Given the description of an element on the screen output the (x, y) to click on. 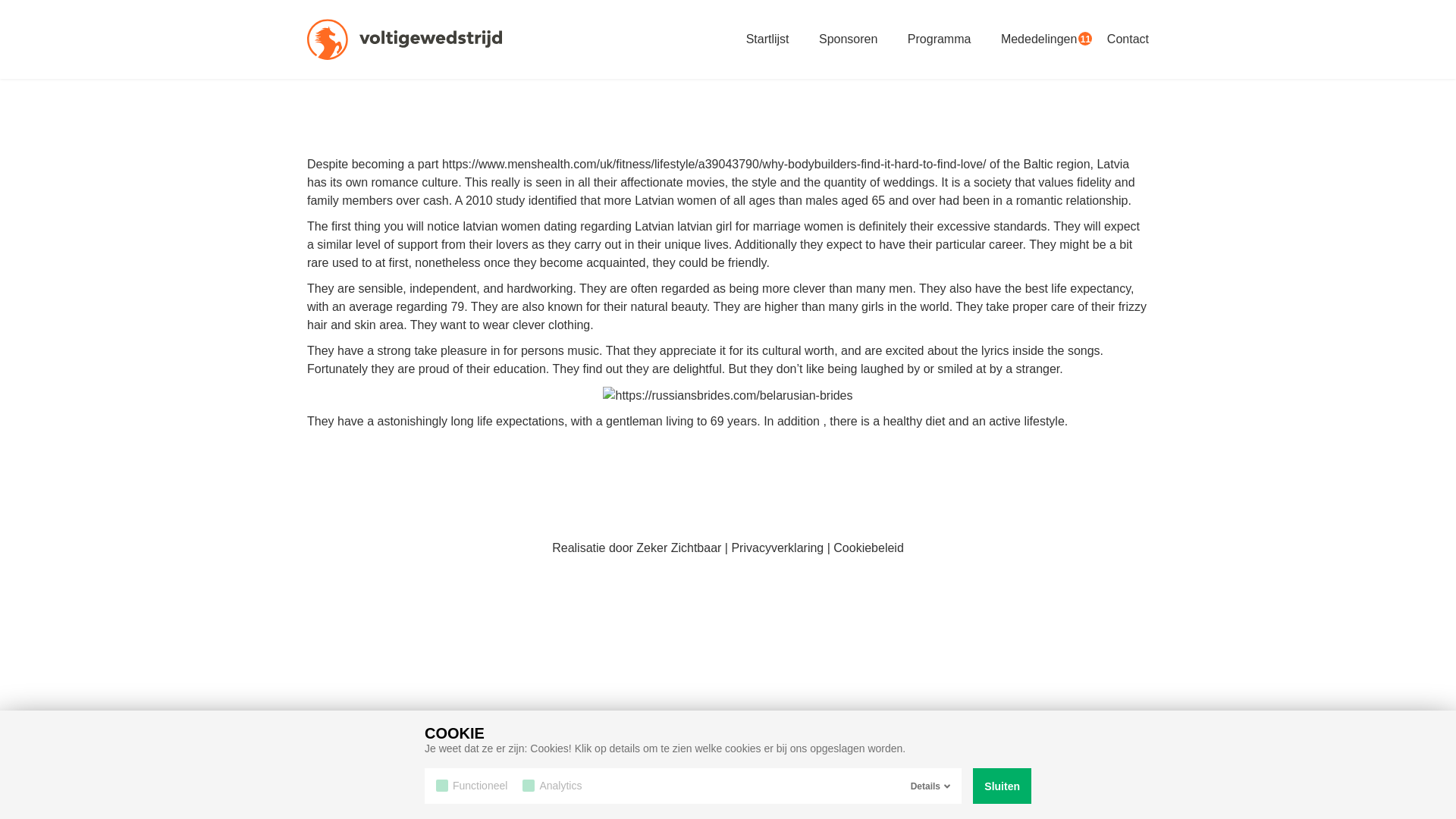
latvian girl for marriage (738, 226)
Programma (939, 38)
Mededelingen (1039, 38)
Privacyverklaring (777, 547)
Contact (1127, 38)
Zeker Zichtbaar (678, 547)
Startlijst (767, 38)
Sponsoren (847, 38)
Cookiebeleid (868, 547)
